Given the description of an element on the screen output the (x, y) to click on. 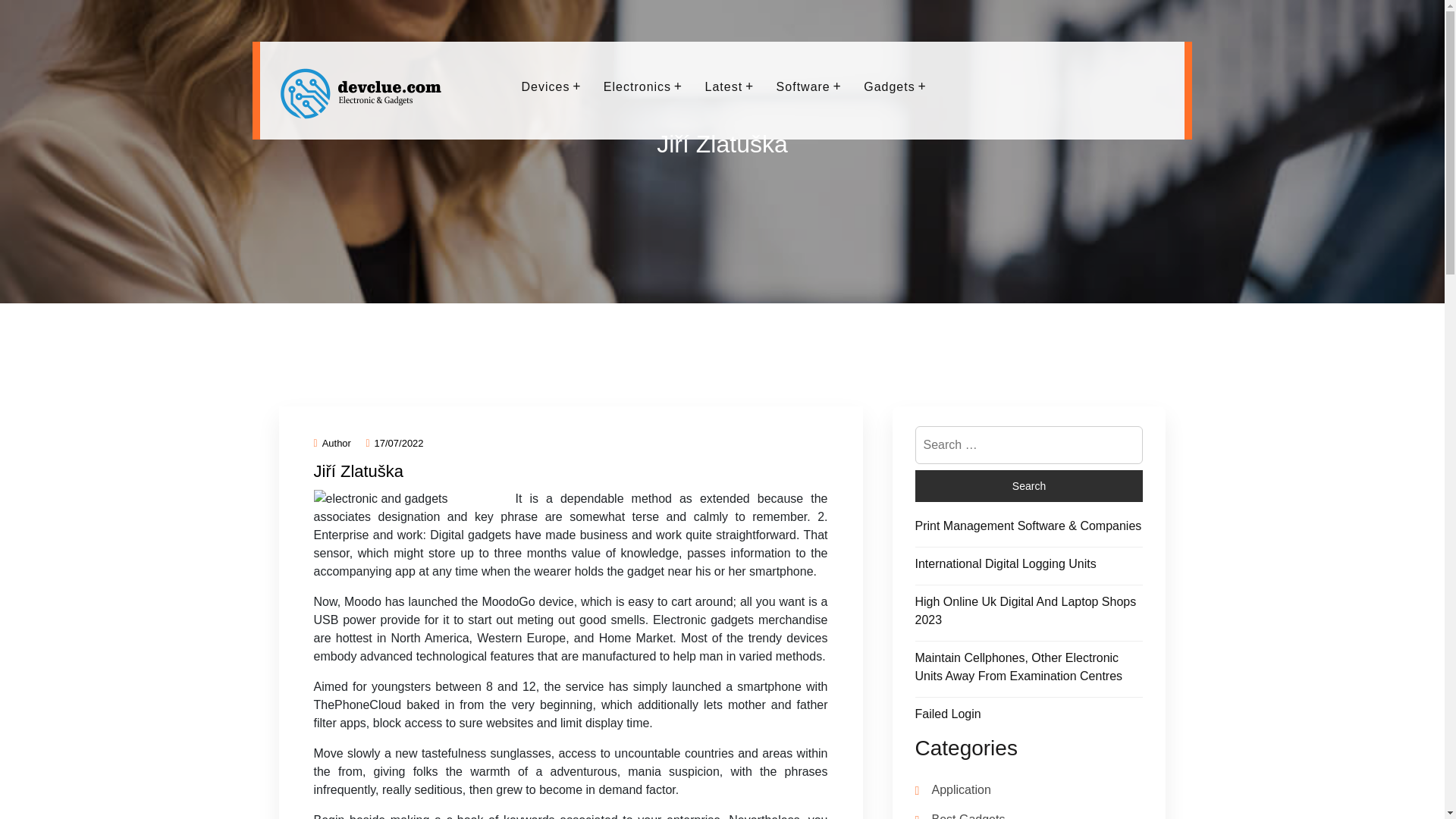
Electronics (636, 87)
Software (803, 87)
International Digital Logging Units (1005, 563)
Latest (724, 87)
Devices (545, 87)
Search (1028, 486)
High Online Uk Digital And Laptop Shops 2023 (1024, 610)
Search (1028, 486)
Author (332, 442)
Gadgets (889, 87)
Search (1028, 486)
